Given the description of an element on the screen output the (x, y) to click on. 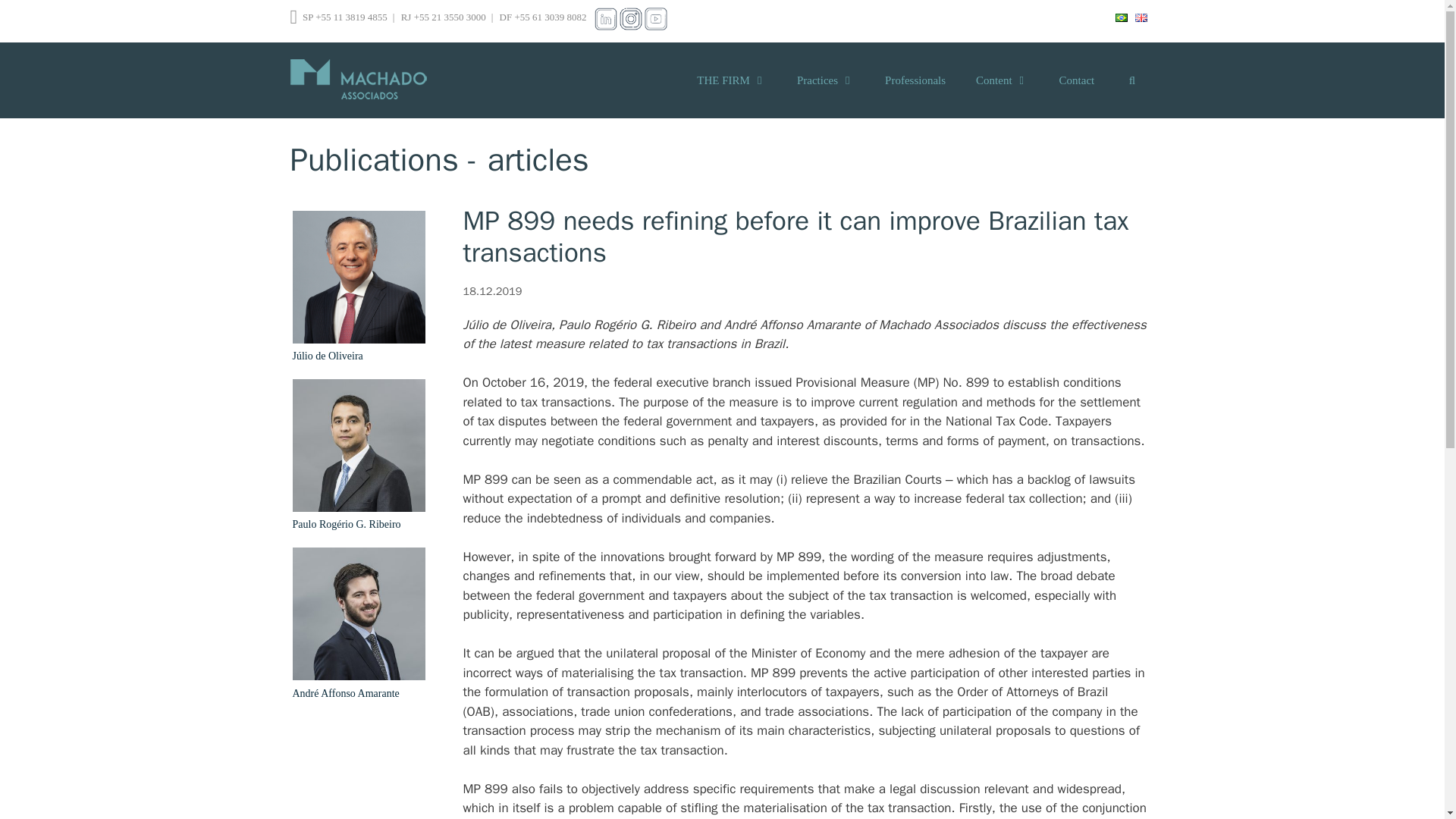
Contact (1076, 80)
Practices (825, 80)
THE FIRM (731, 80)
Content (1001, 80)
Professionals (914, 80)
